Given the description of an element on the screen output the (x, y) to click on. 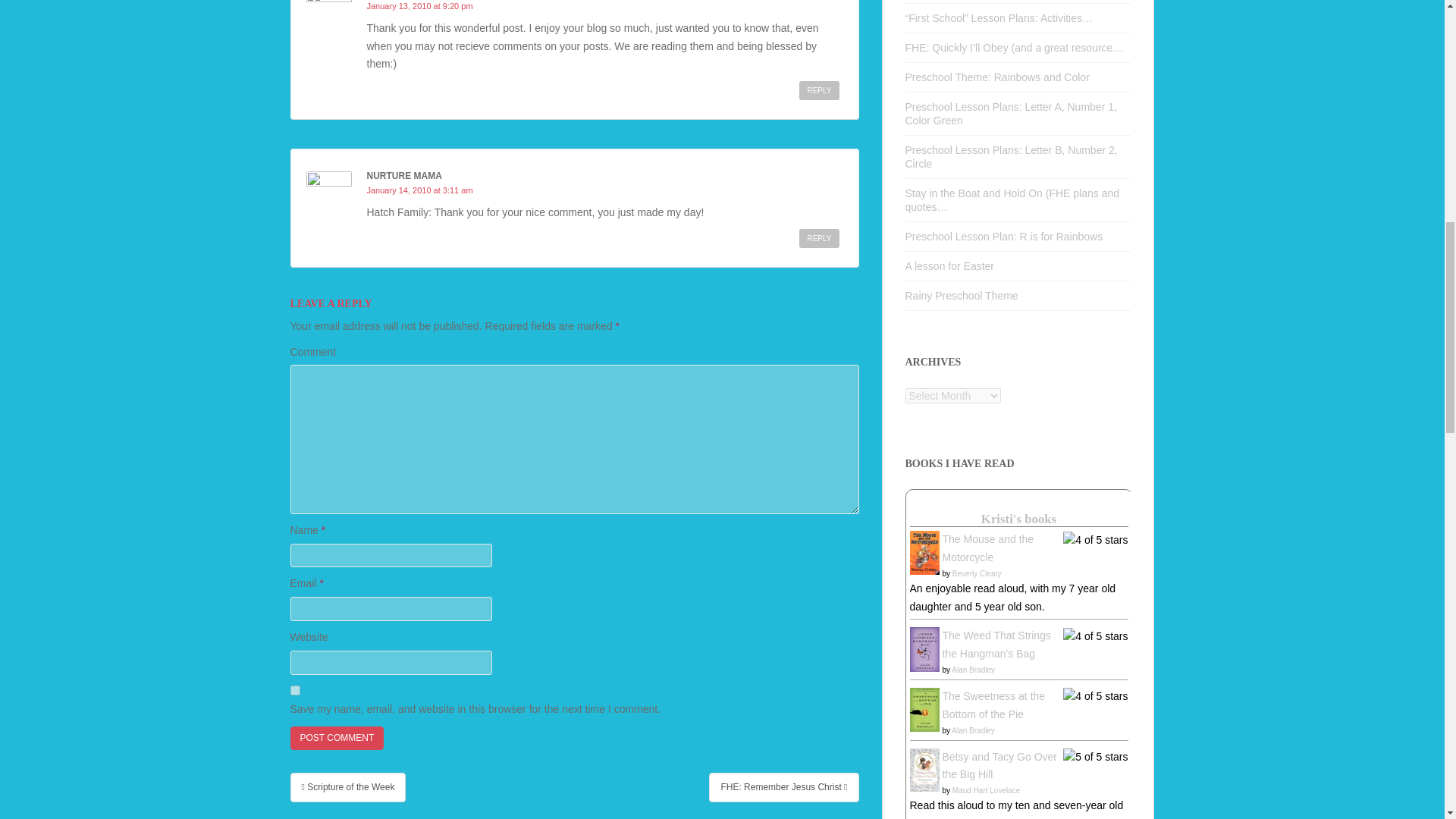
Preschool Lesson Plans: Letter B, Number 2, Circle (1011, 156)
Preschool Lesson Plans: Letter A, Number 1, Color Green (1010, 113)
4 of 5 stars, really liked it (1094, 637)
REPLY (818, 238)
4 of 5 stars, really liked it (1094, 540)
A lesson for Easter (949, 265)
Post Comment (336, 738)
5 of 5 stars, it was amazing (1094, 757)
Rainy Preschool Theme (961, 295)
4 of 5 stars, really liked it (1094, 696)
Preschool Lesson Plan: R is for Rainbows (1004, 236)
Preschool Theme: Rainbows and Color (997, 77)
yes (294, 690)
January 14, 2010 at 3:11 am (419, 189)
January 13, 2010 at 9:20 pm (419, 5)
